Given the description of an element on the screen output the (x, y) to click on. 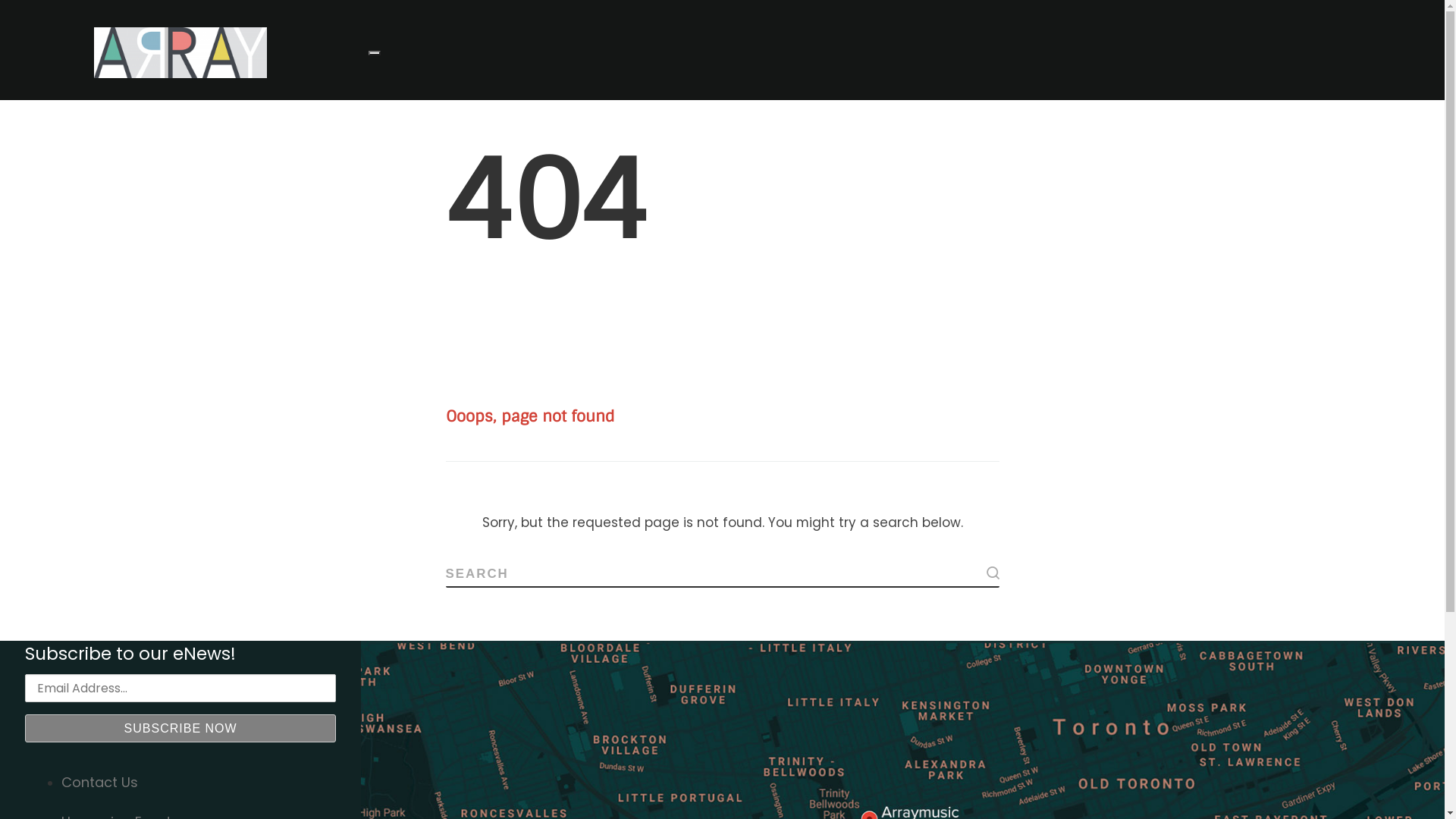
Contact Us Element type: text (99, 781)
Subscribe Now Element type: text (180, 728)
Skip to content Element type: text (0, 0)
sitelogo3 Element type: hover (180, 52)
